Given the description of an element on the screen output the (x, y) to click on. 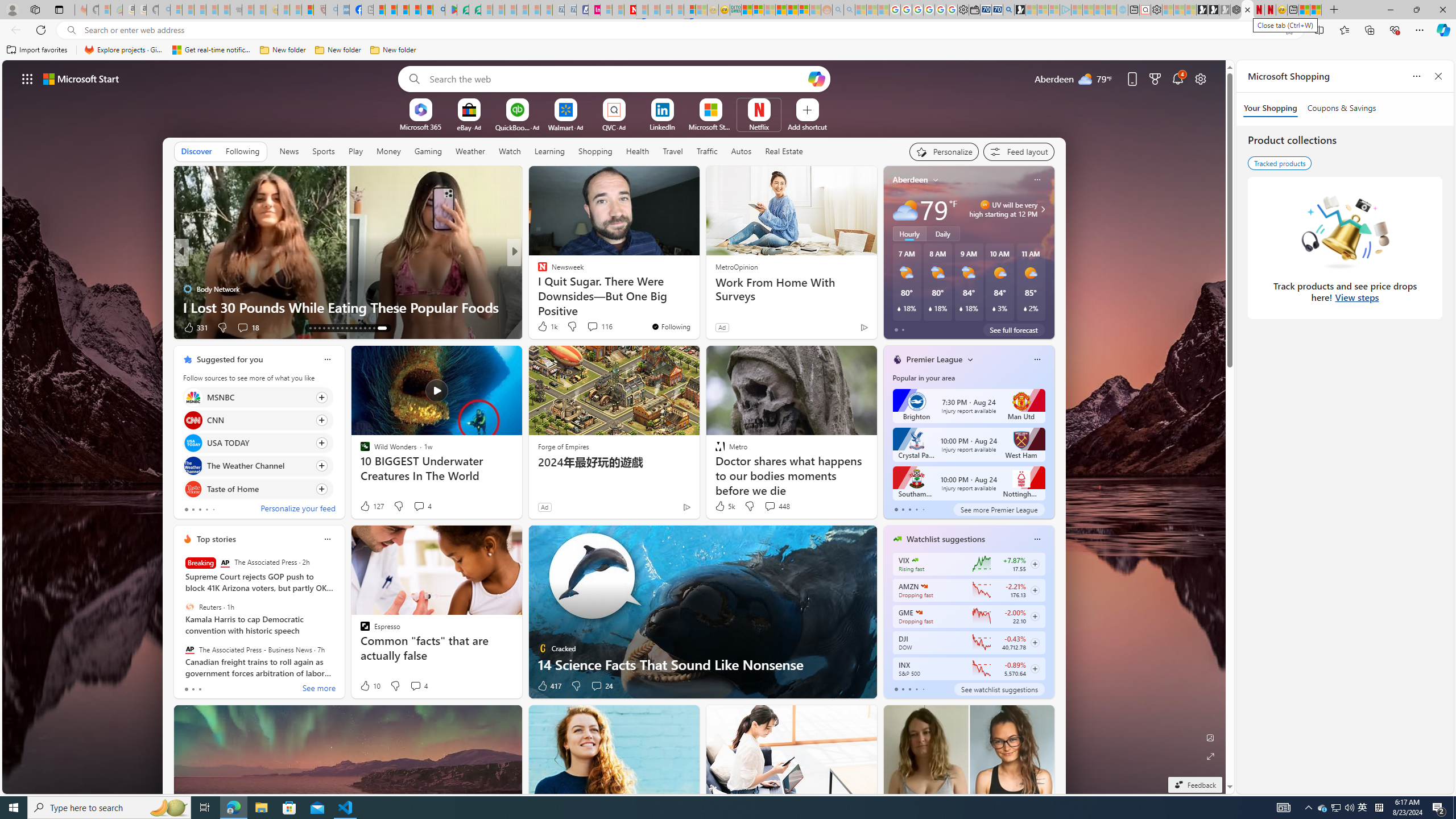
AutomationID: backgroundImagePicture (613, 426)
See watchlist suggestions (999, 689)
Personalize your feed (297, 509)
Latest Politics News & Archive | Newsweek.com (629, 9)
AutomationID: tab-40 (368, 328)
Import favorites (36, 49)
